Given the description of an element on the screen output the (x, y) to click on. 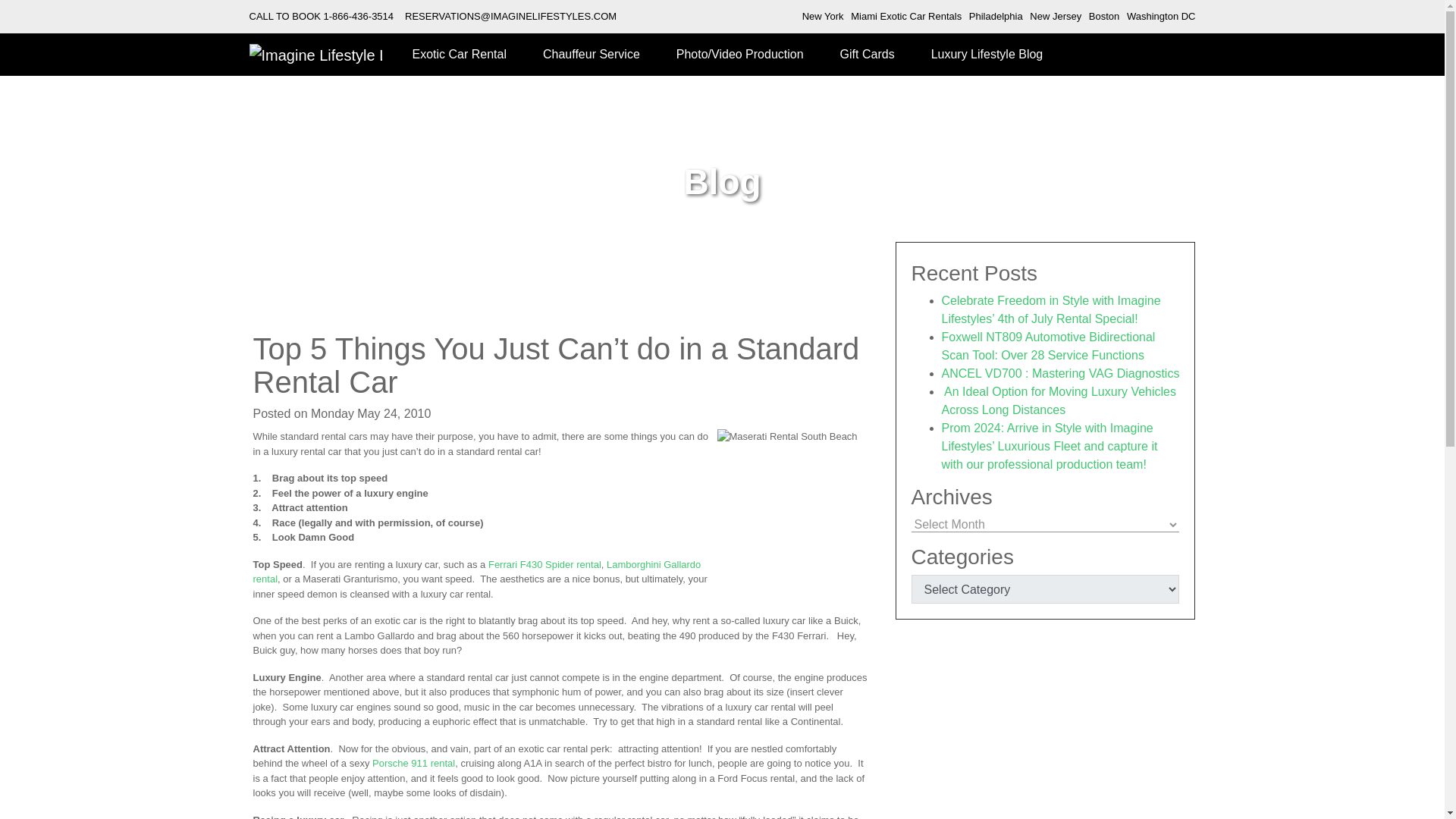
Ferrari F430 Spider rental (544, 563)
Boston (1104, 16)
Philadelphia (996, 16)
1-866-436-3514 (358, 16)
Boston (1104, 16)
Luxury Lifestyle Blog (986, 54)
Porsche 911 rental (413, 763)
New York (823, 16)
18664363514 (358, 16)
New York (823, 16)
Philadelphia (996, 16)
Exotic Car Rental (459, 54)
Miami Exotic Car Rentals (905, 16)
Gift Cards (867, 54)
Lamborghini Gallardo rental (477, 570)
